Given the description of an element on the screen output the (x, y) to click on. 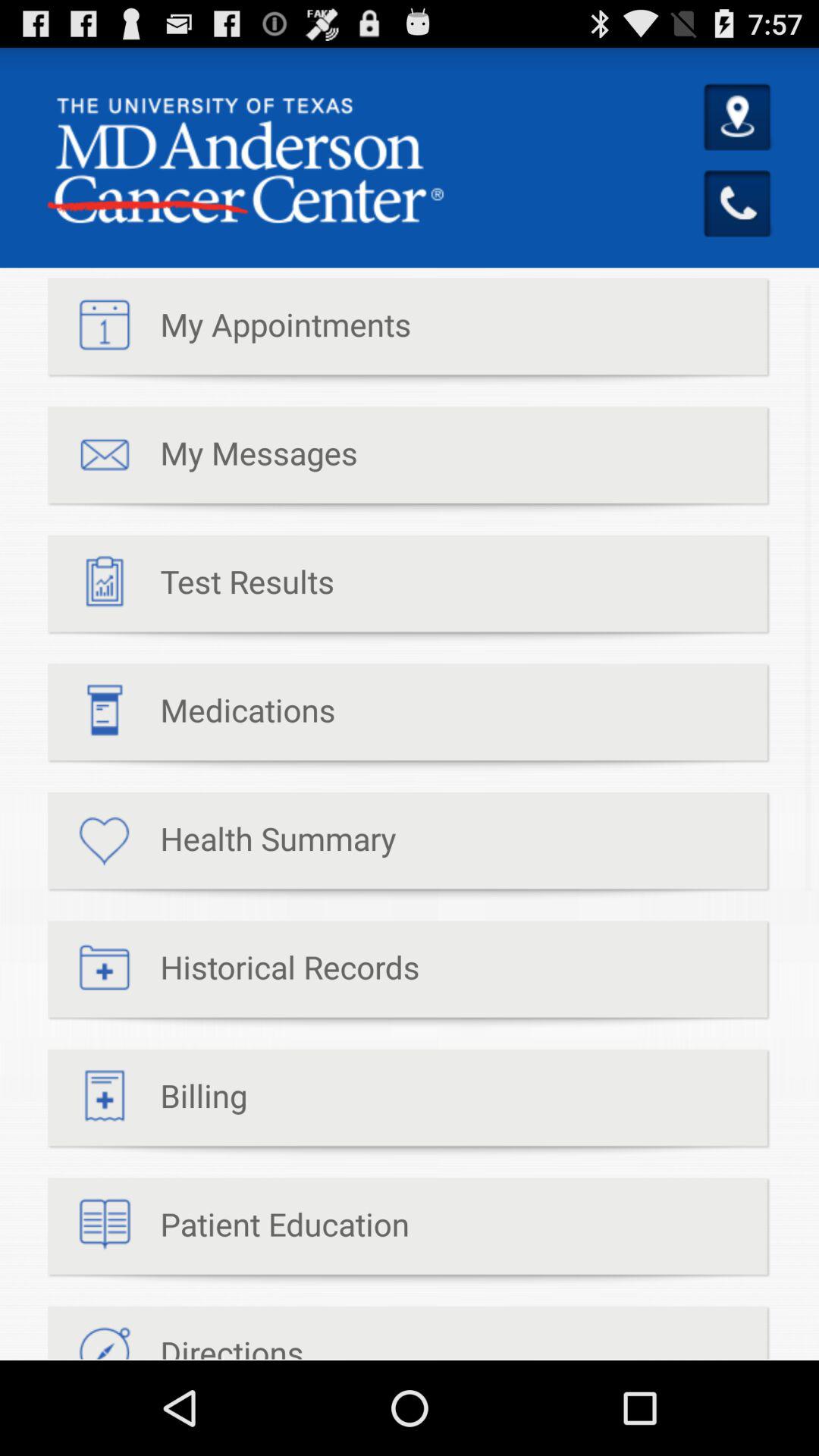
select item below my messages (190, 589)
